Given the description of an element on the screen output the (x, y) to click on. 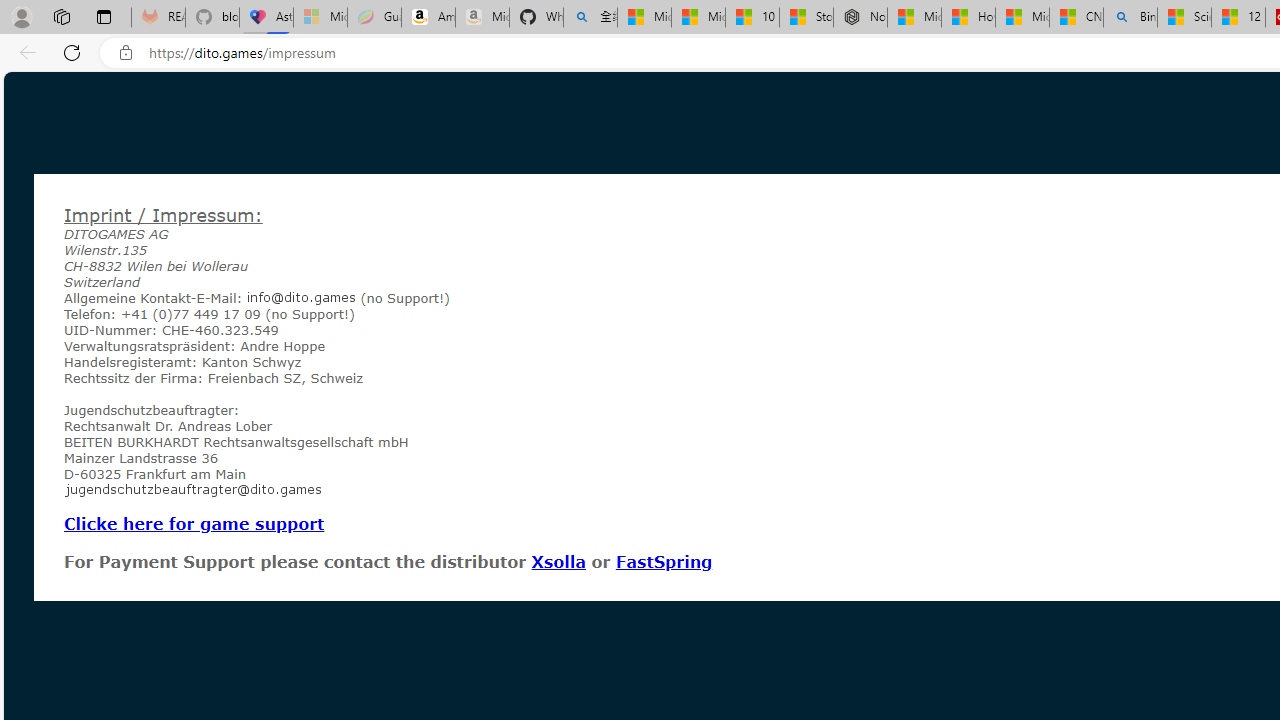
CNN - MSN (1076, 17)
How I Got Rid of Microsoft Edge's Unnecessary Features (968, 17)
Stocks - MSN (806, 17)
Microsoft-Report a Concern to Bing - Sleeping (320, 17)
Asthma Inhalers: Names and Types (266, 17)
Science - MSN (1184, 17)
Nordace - Nordace Siena Is Not An Ordinary Backpack (860, 17)
